Given the description of an element on the screen output the (x, y) to click on. 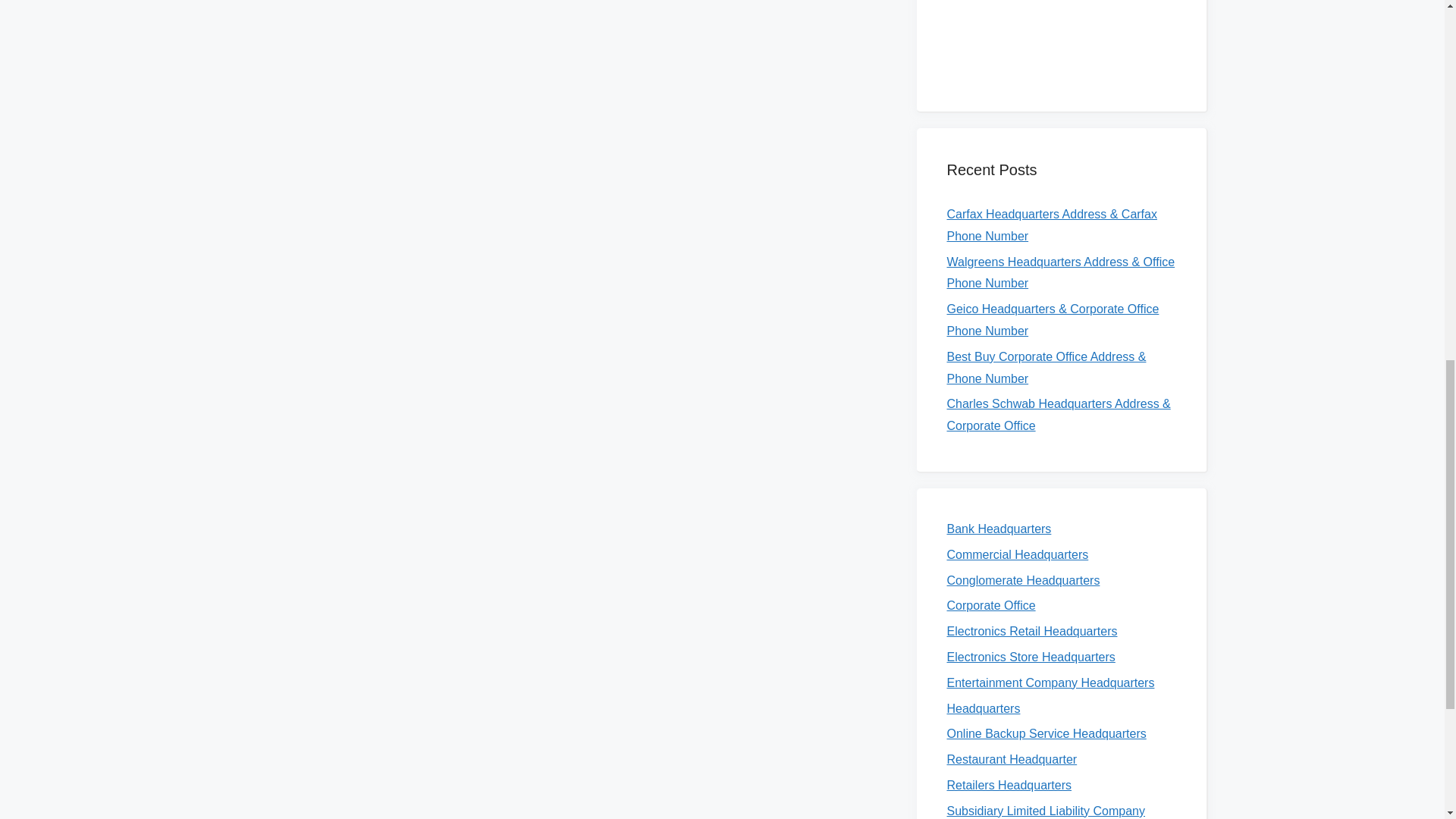
Electronics Retail Headquarters (1031, 631)
Advertisement (1060, 36)
Commercial Headquarters (1016, 554)
Online Backup Service Headquarters (1045, 733)
Headquarters (983, 707)
Retailers Headquarters (1008, 784)
Entertainment Company Headquarters (1050, 682)
Subsidiary Limited Liability Company Headquarters (1045, 811)
Bank Headquarters (998, 528)
Conglomerate Headquarters (1022, 580)
